Given the description of an element on the screen output the (x, y) to click on. 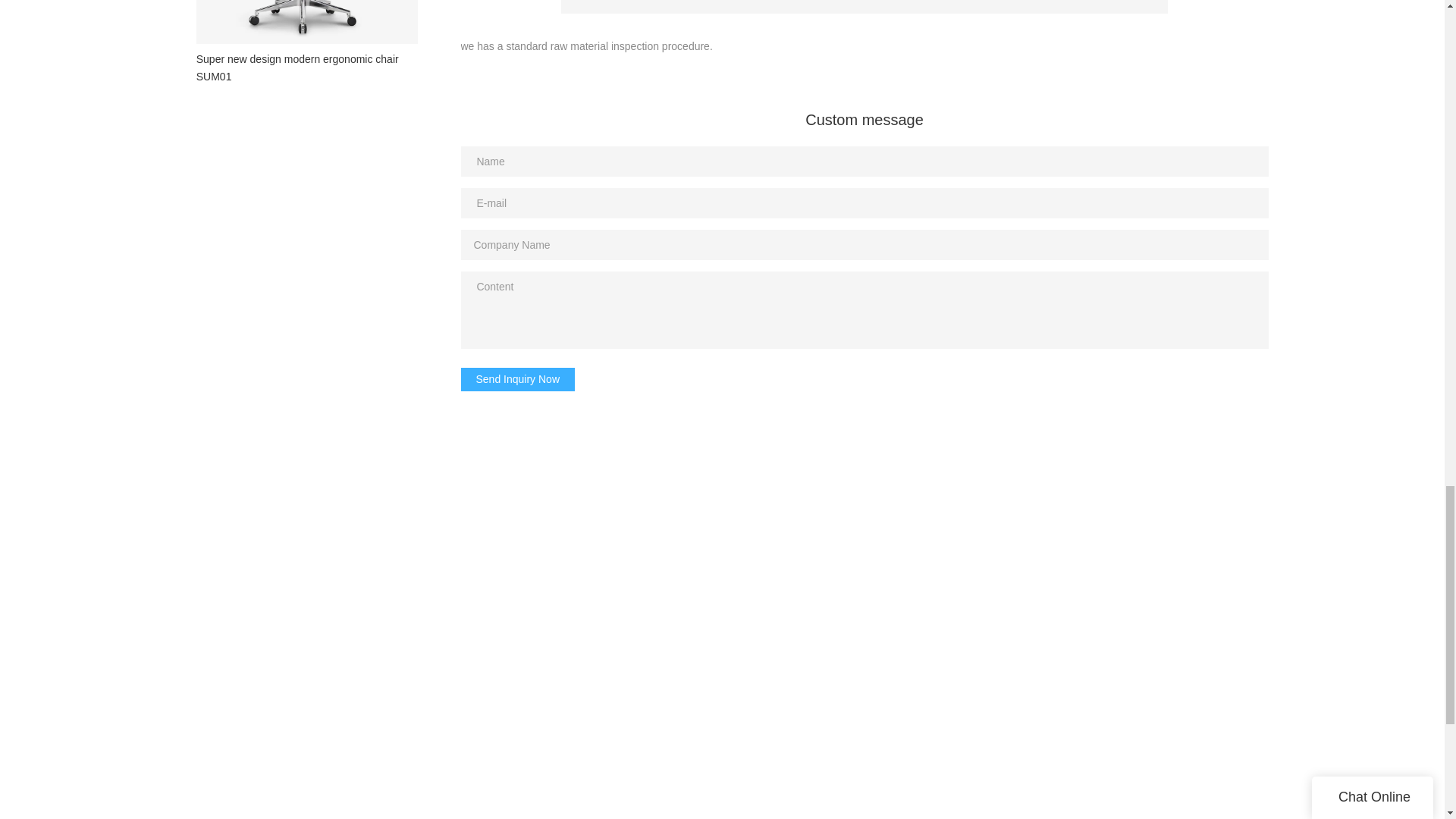
Super new design modern ergonomic chair SUM01 (306, 46)
